Given the description of an element on the screen output the (x, y) to click on. 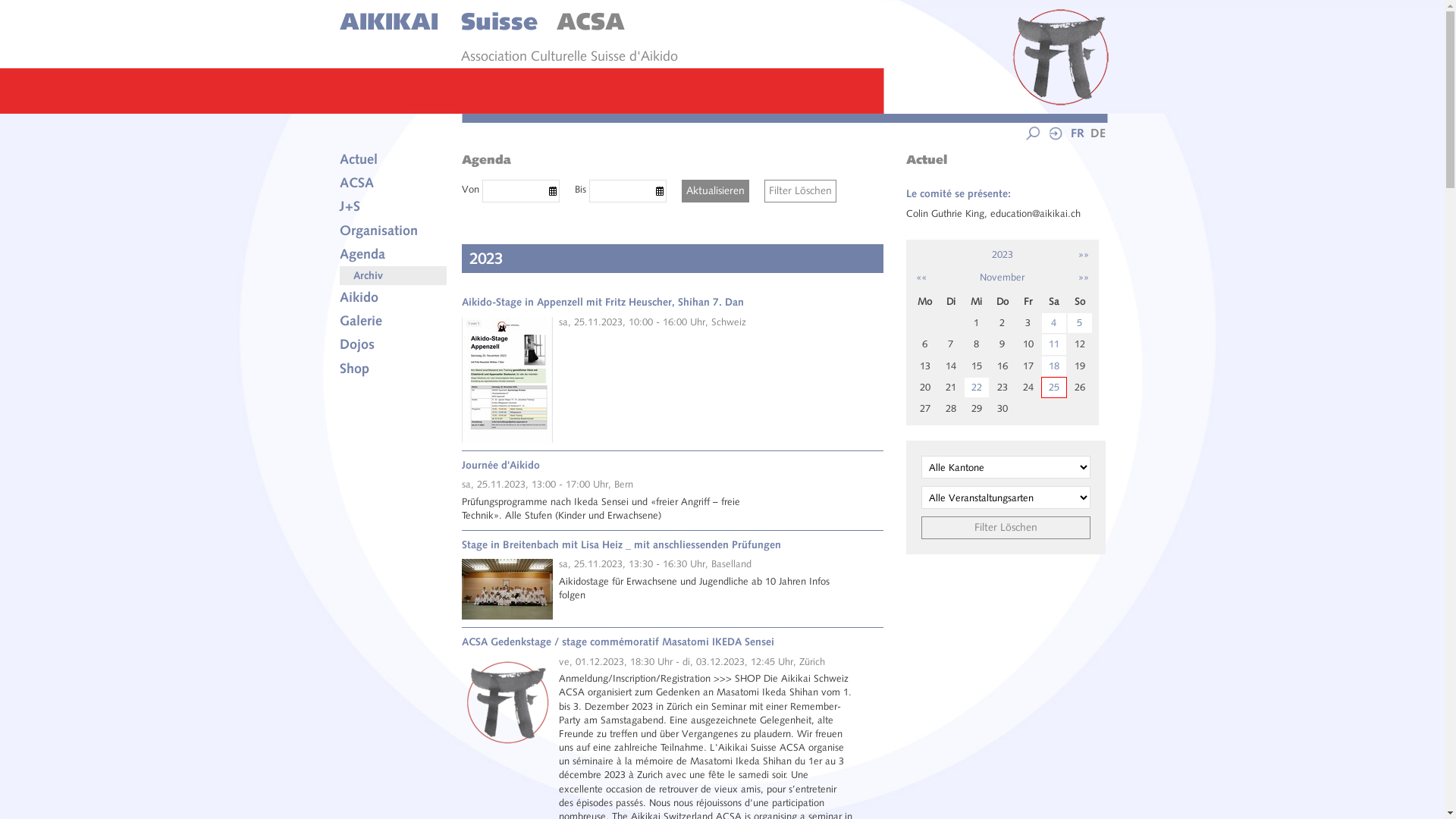
Recherche Element type: hover (1031, 138)
Aikido Element type: text (393, 297)
4 Element type: text (1053, 322)
DE Element type: text (1094, 133)
22 Element type: text (976, 387)
November Element type: text (1001, 277)
Organisation Element type: text (393, 230)
Login Element type: hover (1054, 138)
Actuel Element type: text (393, 159)
25 Element type: text (1053, 387)
FR Element type: text (1074, 133)
Dojos Element type: text (393, 344)
ACSA Element type: text (393, 182)
Archiv Element type: text (393, 275)
18 Element type: text (1053, 366)
5 Element type: text (1079, 322)
11 Element type: text (1053, 344)
Galerie Element type: text (393, 320)
Aikido-Stage in Appenzell mit Fritz Heuscher, Shihan 7. Dan Element type: text (602, 301)
2023 Element type: text (1002, 254)
Aktualisieren Element type: text (715, 190)
J+S Element type: text (393, 206)
Shop Element type: text (393, 367)
Agenda Element type: text (393, 254)
